Given the description of an element on the screen output the (x, y) to click on. 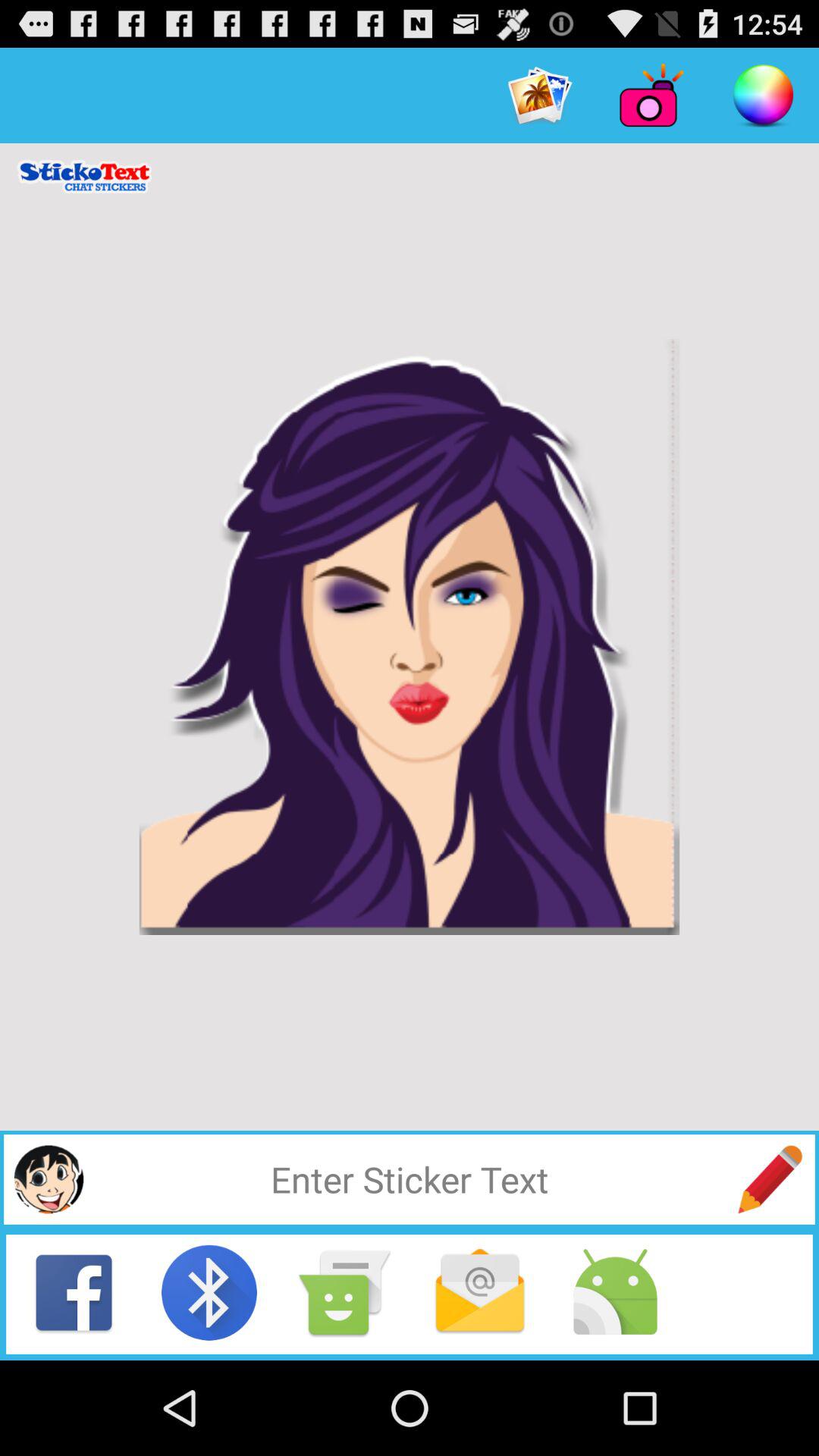
enter text (409, 1179)
